Given the description of an element on the screen output the (x, y) to click on. 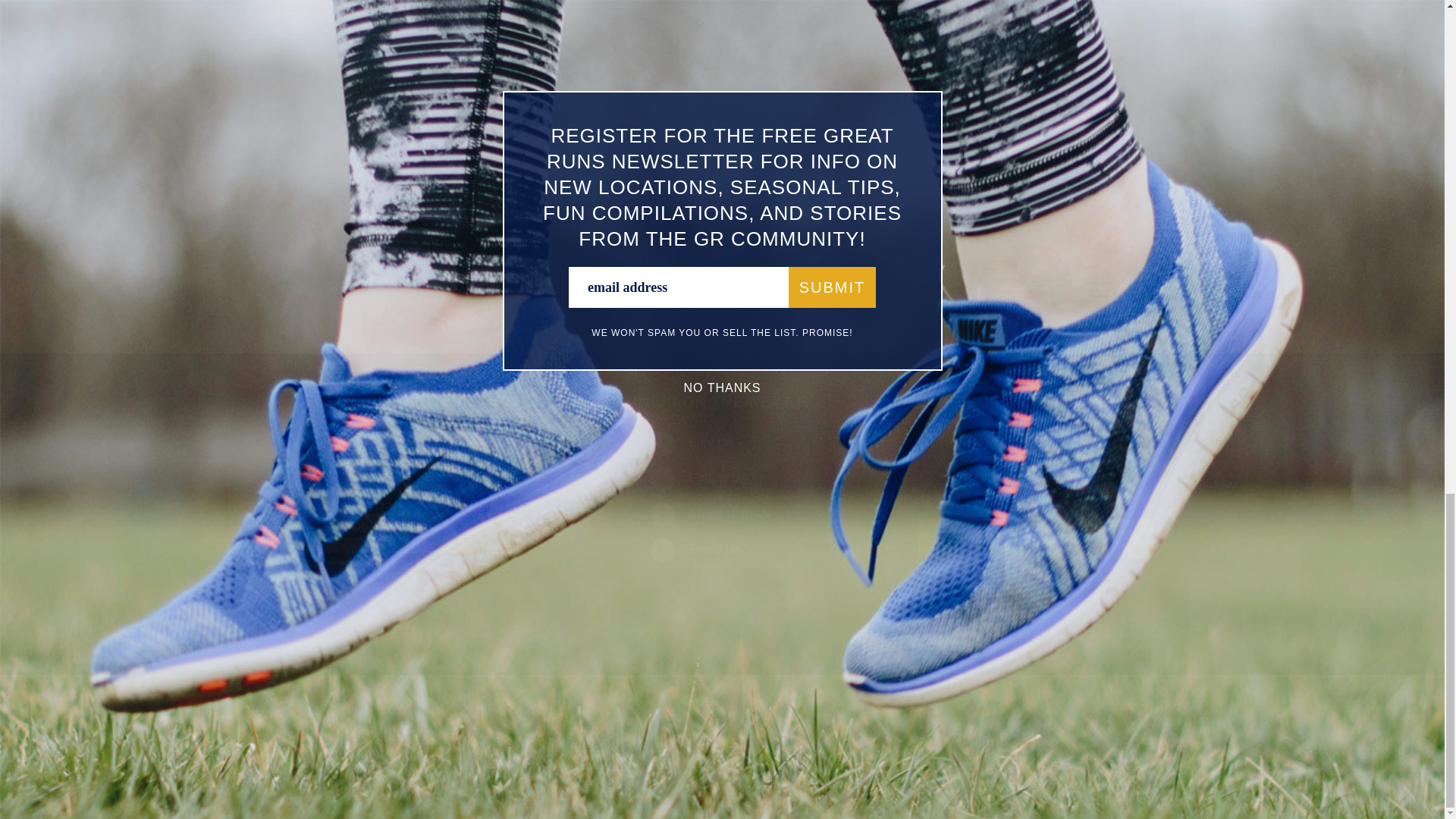
Code Block (488, 35)
Blockquote (467, 35)
Spoiler (550, 35)
Link (509, 35)
Unordered List (446, 35)
Italic (360, 35)
Strike (403, 35)
Ordered List (424, 35)
Underline (382, 35)
Submit (479, 532)
Bold (339, 35)
Source Code (528, 35)
